Given the description of an element on the screen output the (x, y) to click on. 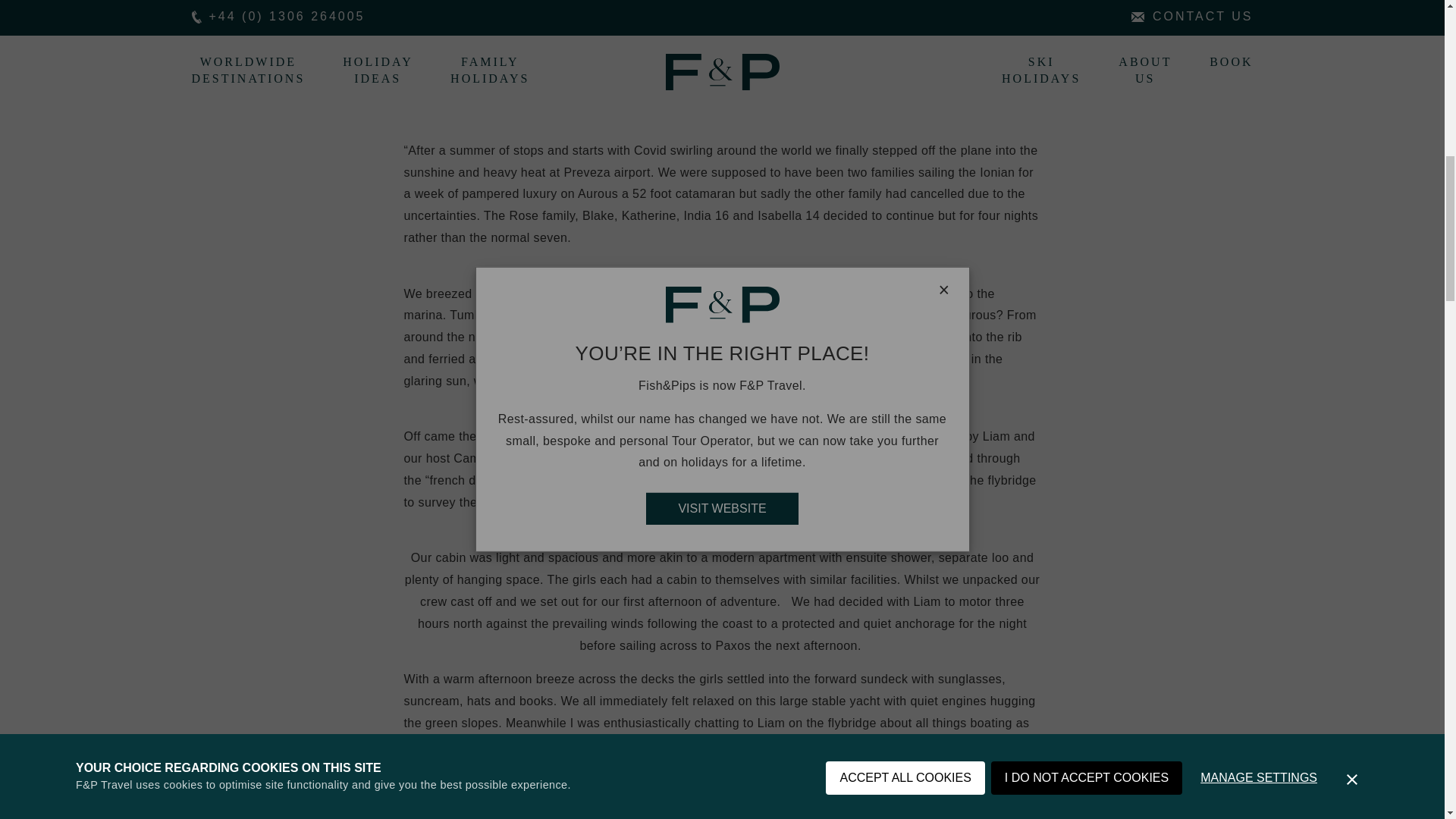
I DO NOT ACCEPT COOKIES (1086, 17)
ACCEPT ALL COOKIES (904, 32)
MANAGE SETTINGS (1258, 4)
